Given the description of an element on the screen output the (x, y) to click on. 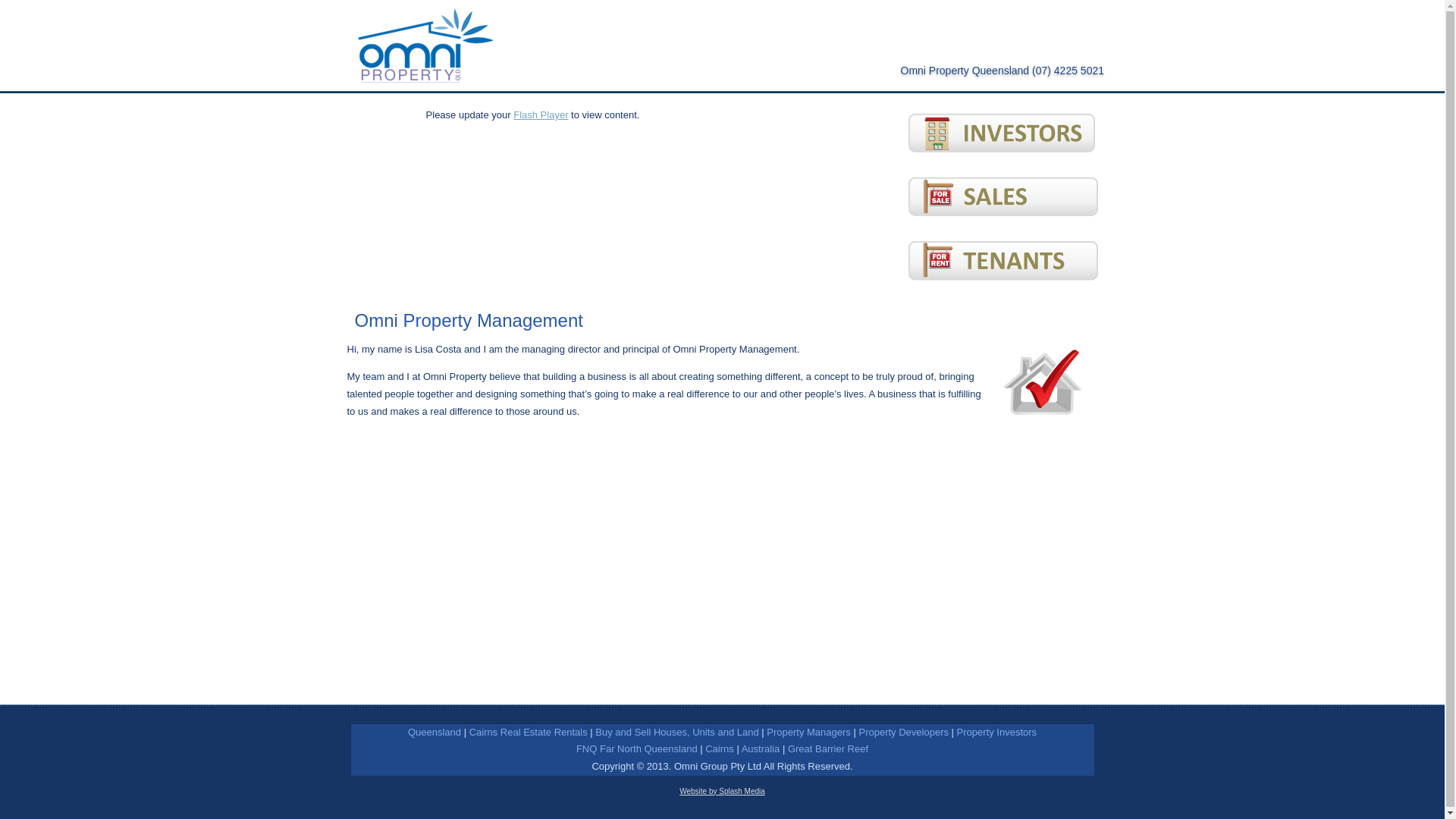
Omini Property Managers Cairns Element type: hover (1041, 381)
Cairns Element type: text (719, 748)
Investors Element type: hover (1003, 136)
Queensland Element type: text (434, 731)
Australia Element type: text (760, 748)
Investors Element type: hover (1003, 160)
Great Barrier Reef Element type: text (827, 748)
Property Managers Element type: text (808, 731)
Buy and Sell Houses, Units and Land Element type: text (676, 731)
Website by Splash Media Element type: text (722, 791)
Property Developers Element type: text (903, 731)
Omni Property Queensland (07) 4225 5021 Element type: text (1002, 70)
Tenants Element type: hover (1003, 288)
Sales Element type: hover (1003, 223)
Sales Element type: hover (1003, 200)
Flash Player Element type: text (540, 114)
Cairns Real Estate Rentals Element type: text (528, 731)
FNQ Element type: text (586, 748)
Tenants Element type: hover (1003, 263)
Property Investors Element type: text (997, 731)
Far North Queensland Element type: text (648, 748)
